Given the description of an element on the screen output the (x, y) to click on. 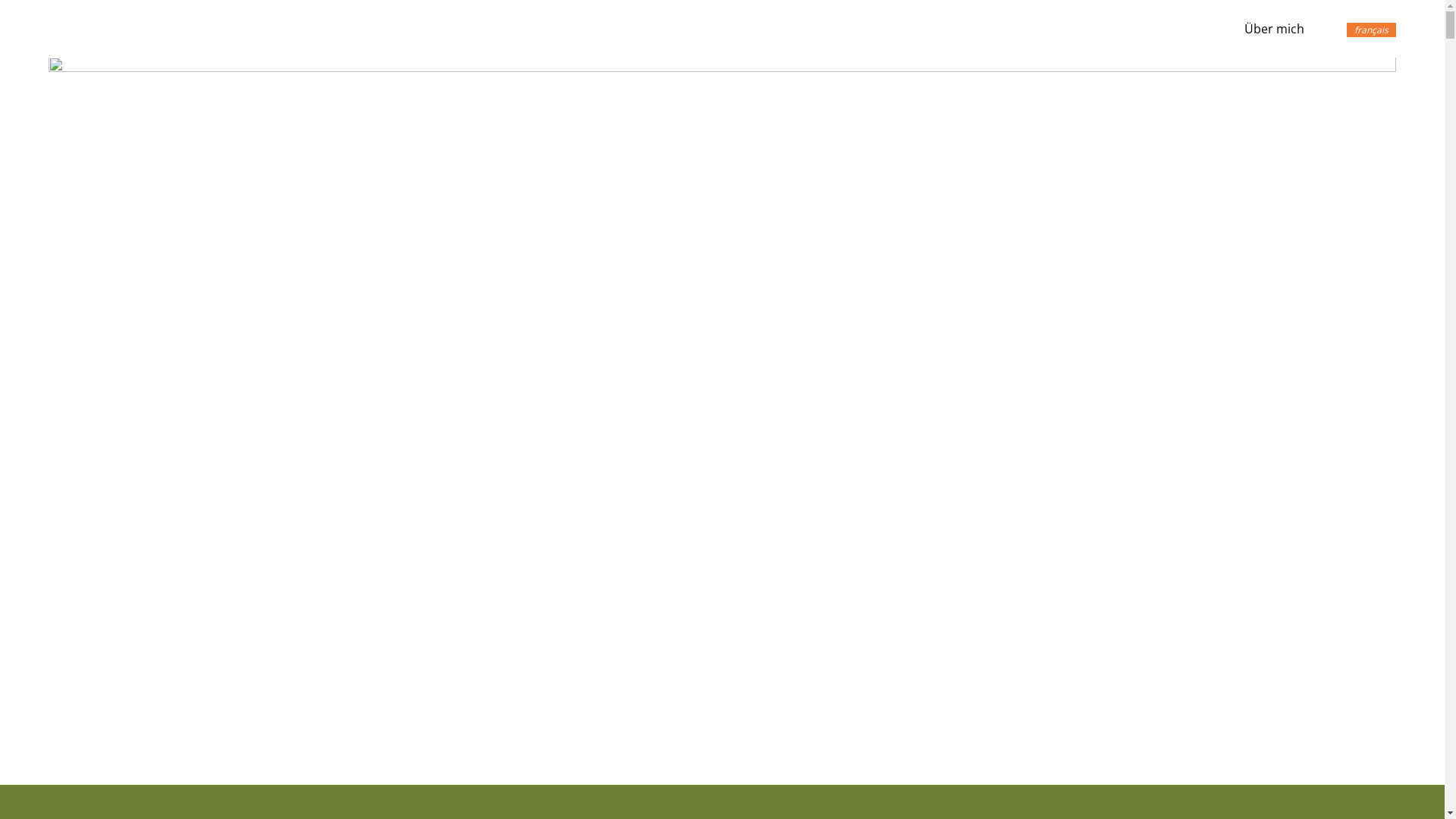
WANDERLEITER PHILIPPE BOVET Element type: text (189, 28)
